Given the description of an element on the screen output the (x, y) to click on. 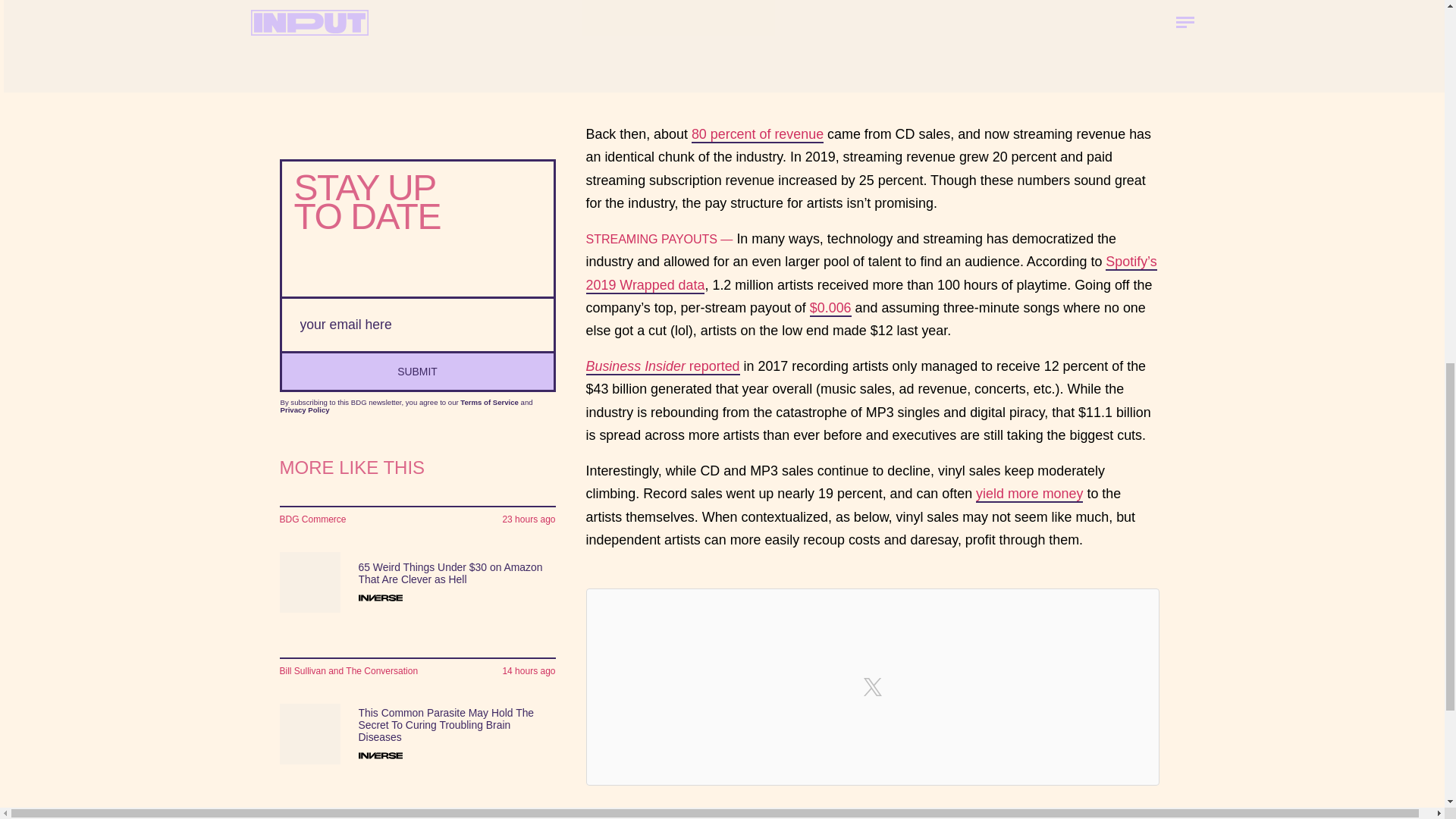
Business Insider reported (662, 366)
yield more money (1029, 494)
80 percent of revenue (757, 134)
SUBMIT (417, 370)
Terms of Service (489, 402)
Privacy Policy (305, 409)
